Given the description of an element on the screen output the (x, y) to click on. 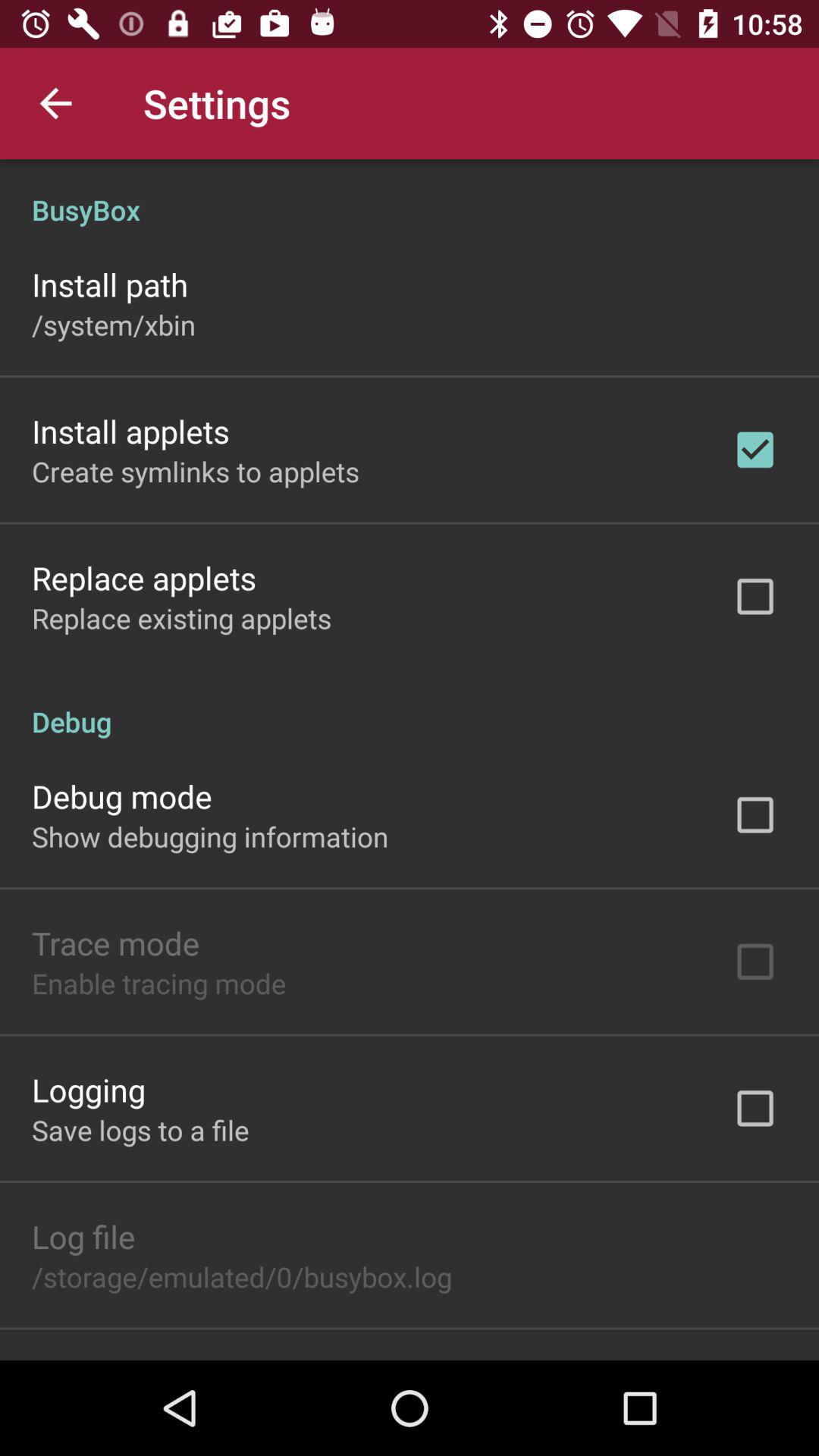
choose the icon above the storage emulated 0 item (83, 1236)
